Given the description of an element on the screen output the (x, y) to click on. 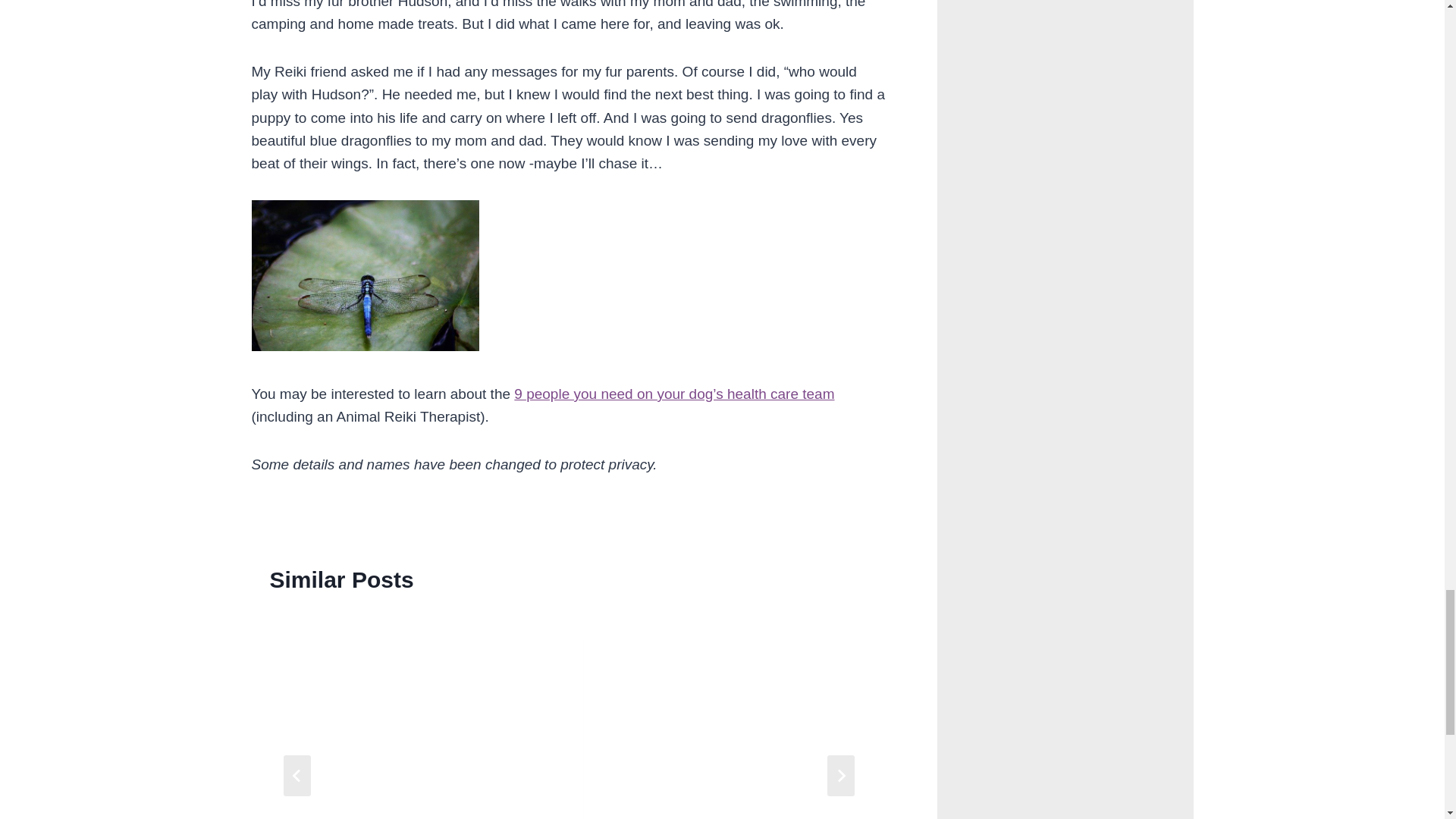
How Do Animals Experience Reiki? (365, 275)
Popular CBD Dog Treat Recipe For Pain Relief (411, 717)
Natural Remedies for Hot Spots on Your Golden Retriever (725, 717)
